Given the description of an element on the screen output the (x, y) to click on. 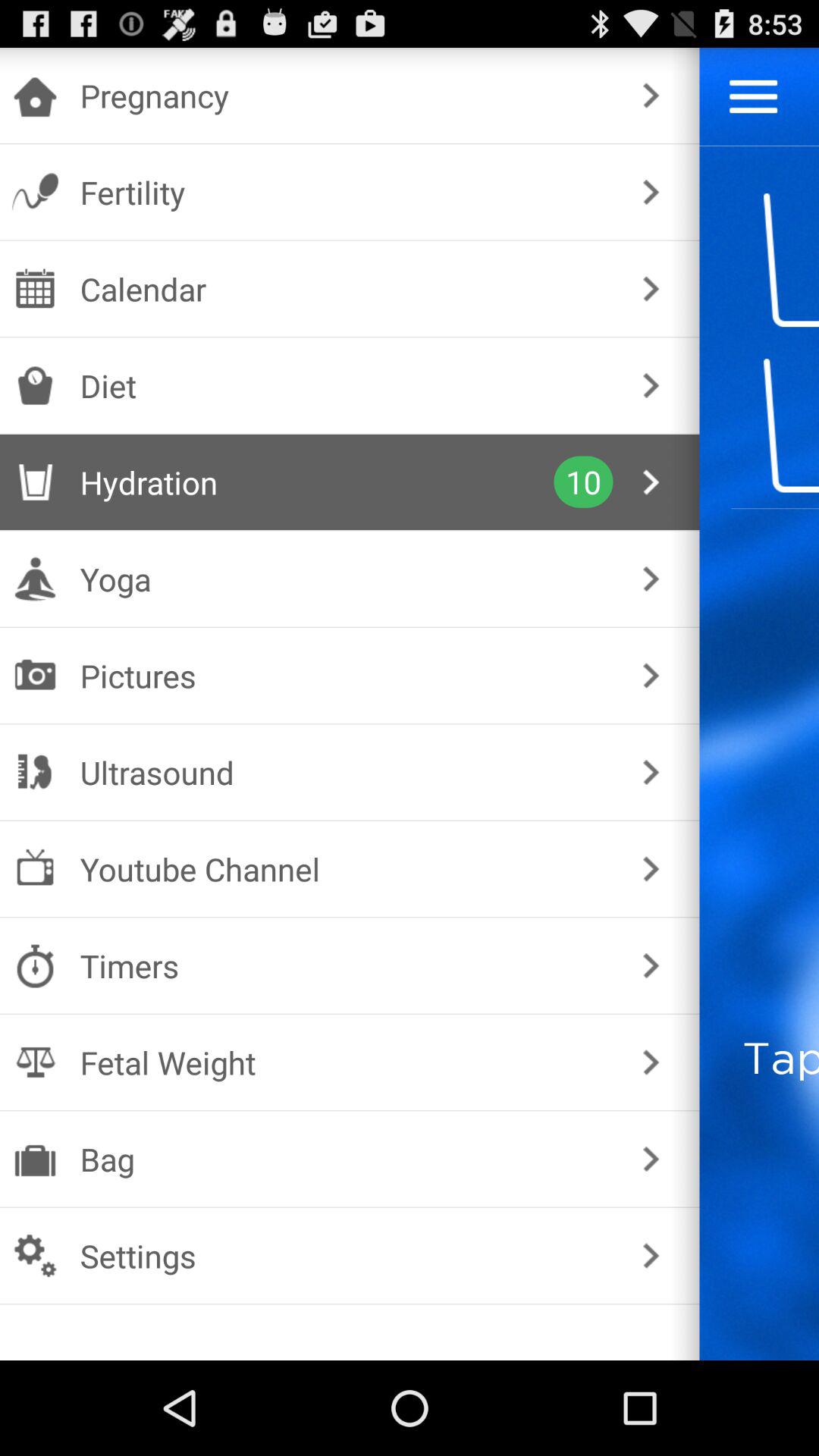
menu options (753, 96)
